Given the description of an element on the screen output the (x, y) to click on. 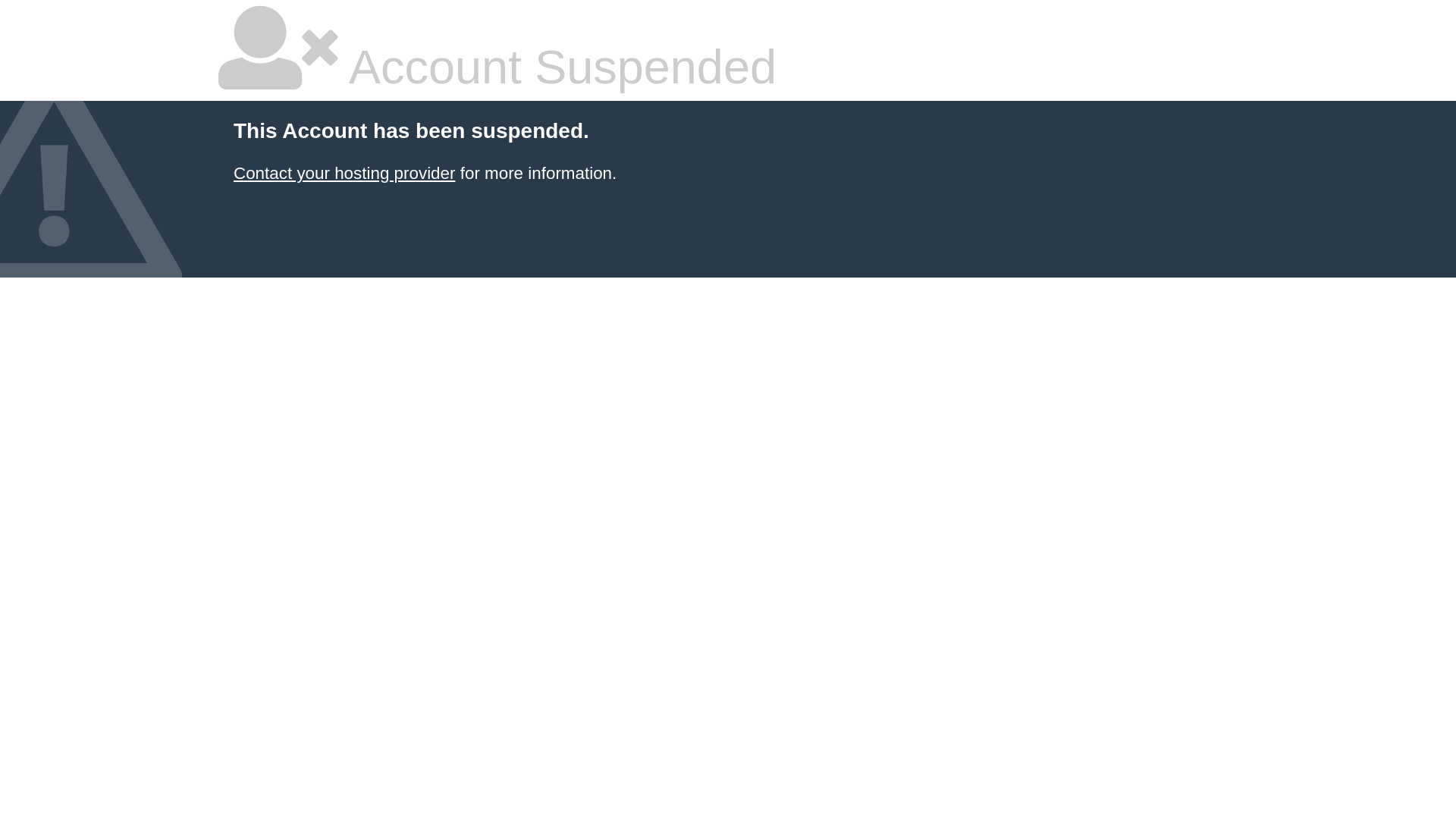
Contact your hosting provider Element type: text (344, 172)
